Given the description of an element on the screen output the (x, y) to click on. 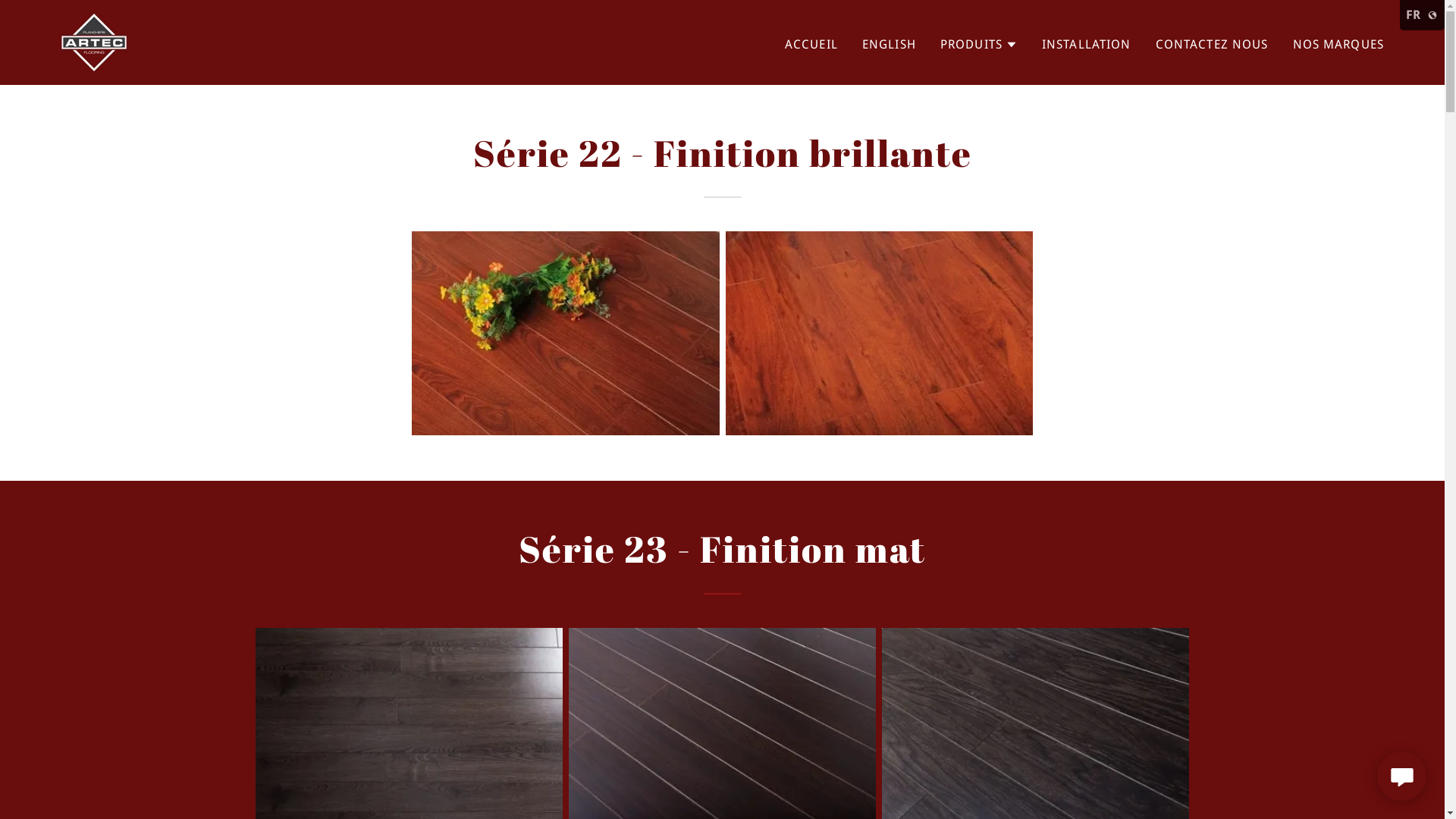
ENGLISH Element type: text (888, 43)
PRODUITS Element type: text (978, 43)
Planchers Artec Element type: hover (93, 41)
INSTALLATION Element type: text (1086, 43)
CONTACTEZ NOUS Element type: text (1212, 43)
NOS MARQUES Element type: text (1337, 43)
ACCUEIL Element type: text (811, 43)
